Given the description of an element on the screen output the (x, y) to click on. 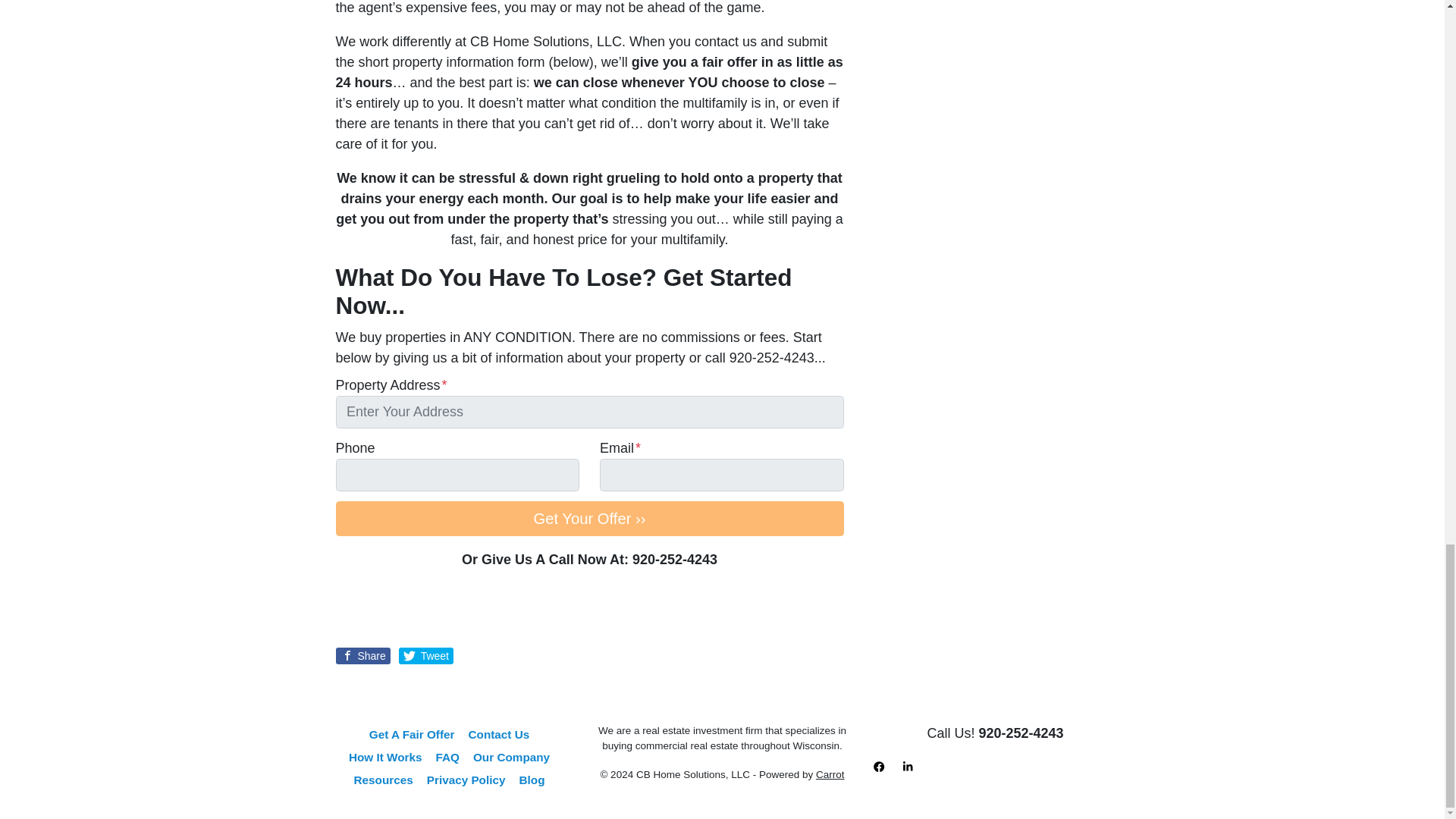
Facebook (878, 766)
How It Works (385, 757)
Blog (531, 780)
Tweet (425, 655)
Privacy Policy (466, 780)
Get A Fair Offer (411, 734)
Contact Us (498, 734)
LinkedIn (907, 766)
Share (362, 655)
Resources (383, 780)
FAQ (447, 757)
Share on Facebook (362, 655)
Our Company (510, 757)
Carrot (829, 774)
Share on Twitter (425, 655)
